Given the description of an element on the screen output the (x, y) to click on. 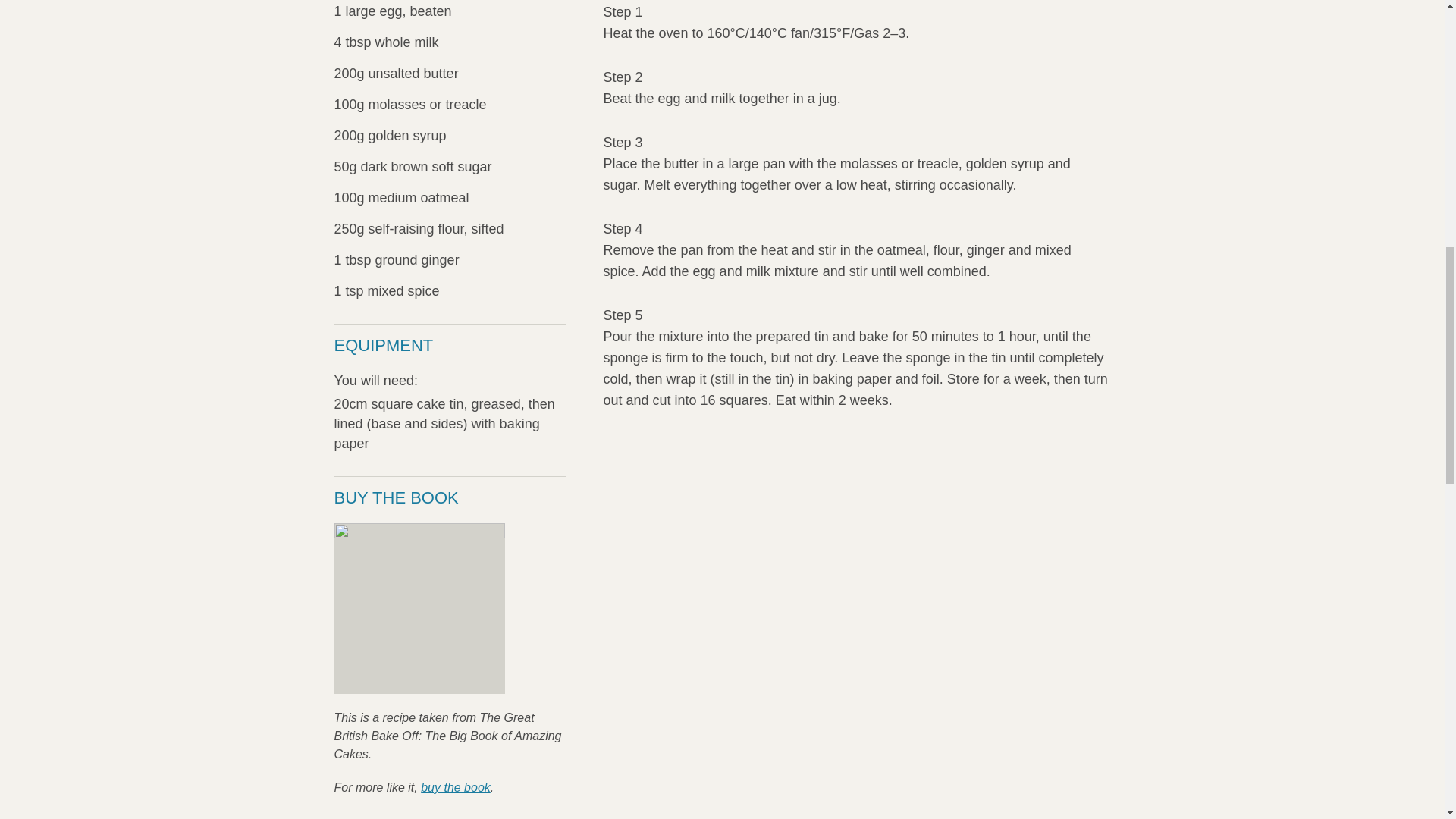
buy the book (455, 787)
